Given the description of an element on the screen output the (x, y) to click on. 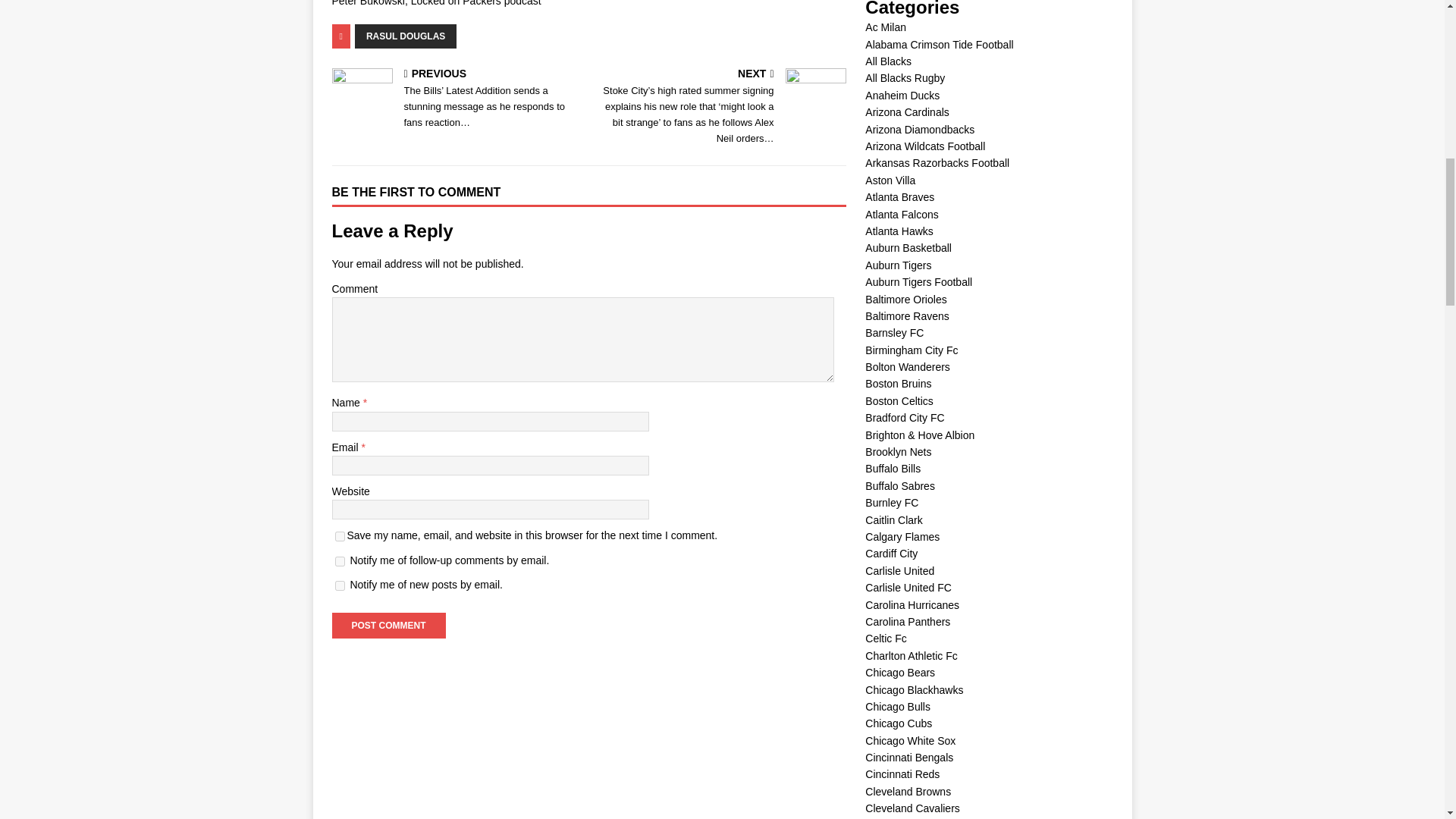
Ac Milan (884, 27)
Post Comment (388, 625)
subscribe (339, 561)
subscribe (339, 585)
All Blacks (887, 61)
RASUL DOUGLAS (406, 36)
Alabama Crimson Tide Football (938, 44)
All Blacks Rugby (904, 78)
Post Comment (388, 625)
yes (339, 536)
